Given the description of an element on the screen output the (x, y) to click on. 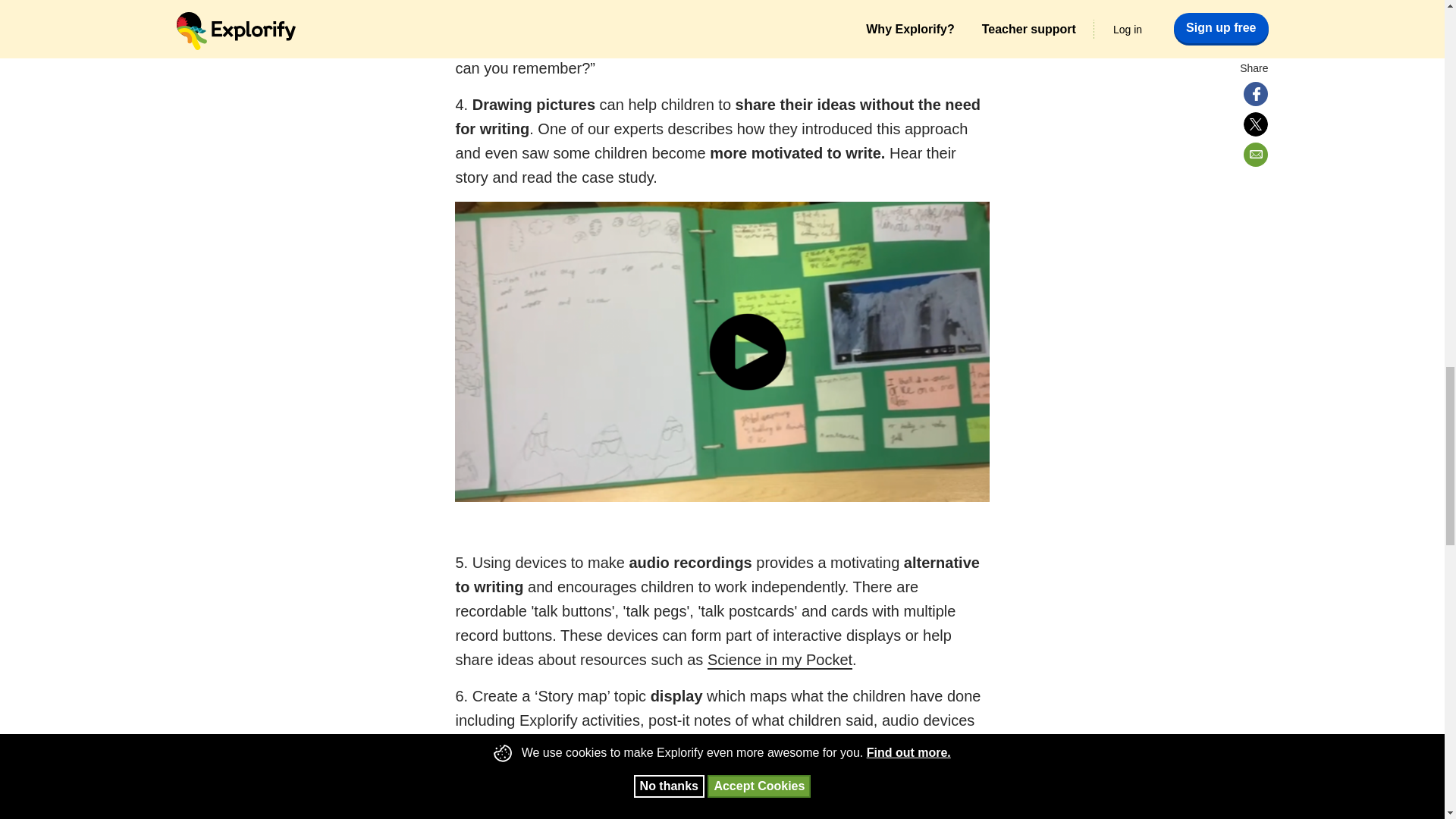
Science in my Pocket (779, 660)
